Given the description of an element on the screen output the (x, y) to click on. 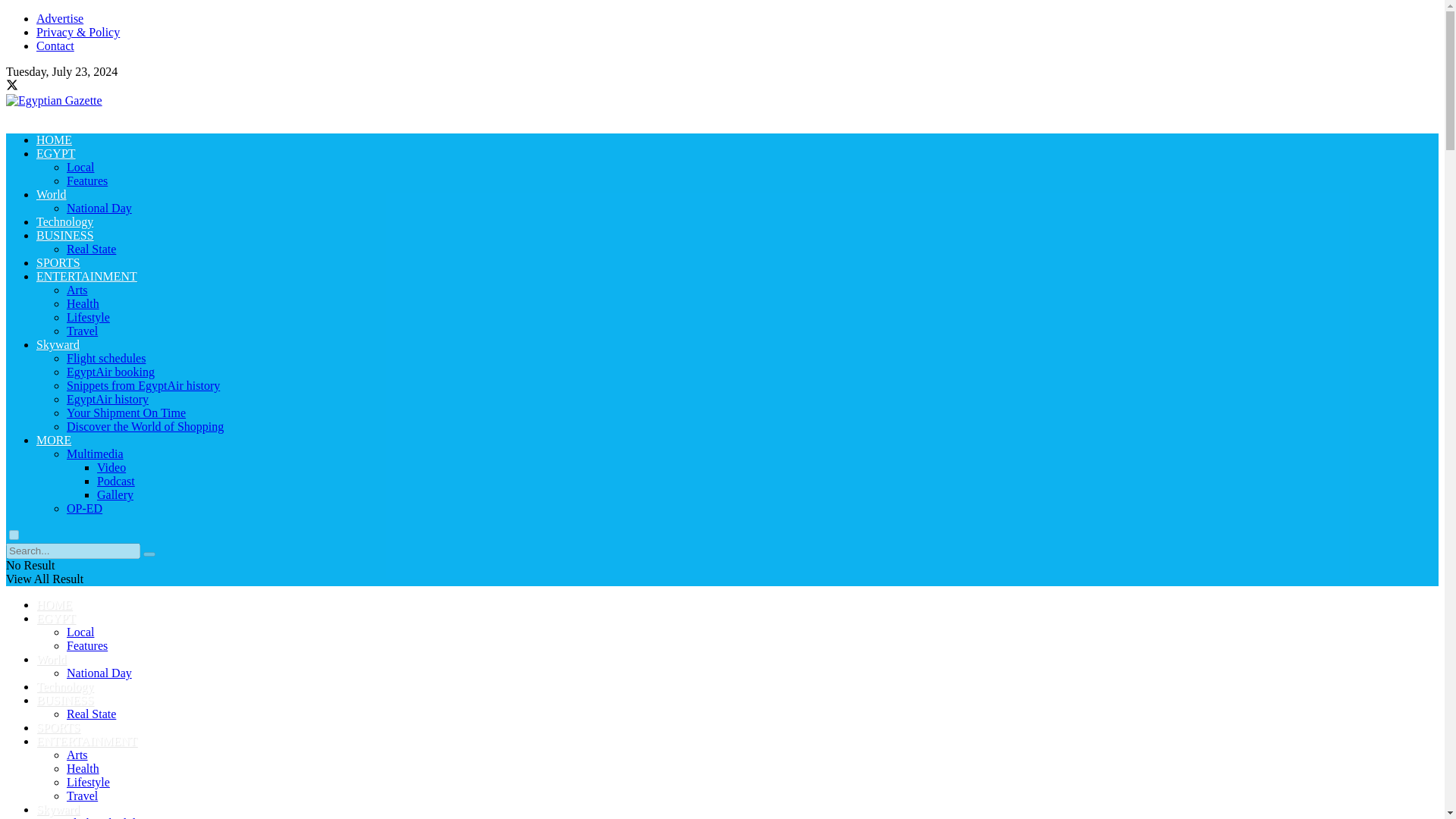
HOME (53, 139)
Multimedia (94, 453)
OP-ED (83, 508)
Podcast (116, 481)
Arts (76, 289)
Features (86, 180)
ENTERTAINMENT (86, 276)
Discover the World of Shopping (145, 426)
Local (80, 631)
Contact (55, 45)
World (51, 194)
EgyptAir history (107, 399)
SPORTS (58, 262)
EgyptAir booking (110, 371)
Real State (91, 248)
